Given the description of an element on the screen output the (x, y) to click on. 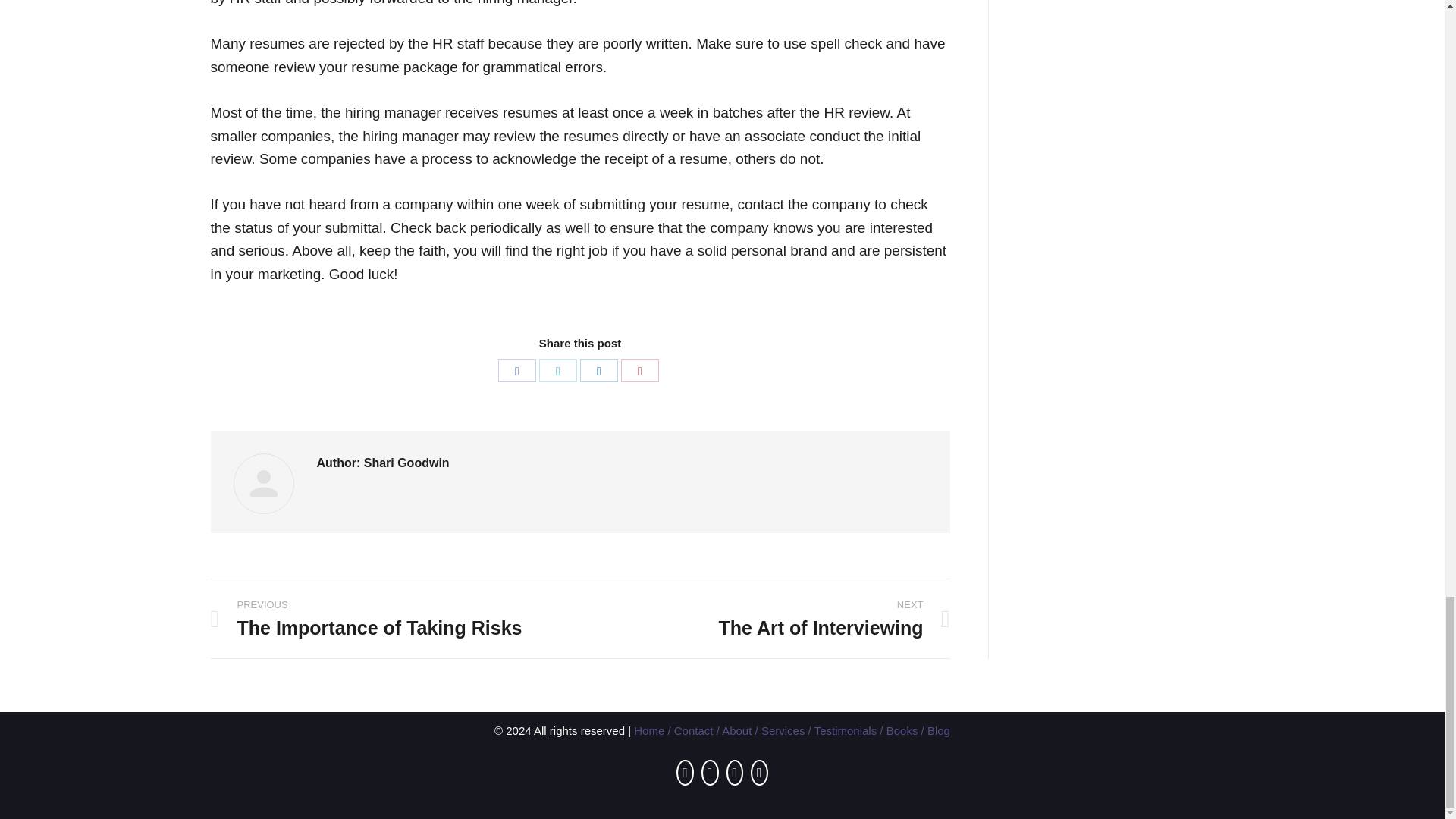
Facebook (516, 370)
